Given the description of an element on the screen output the (x, y) to click on. 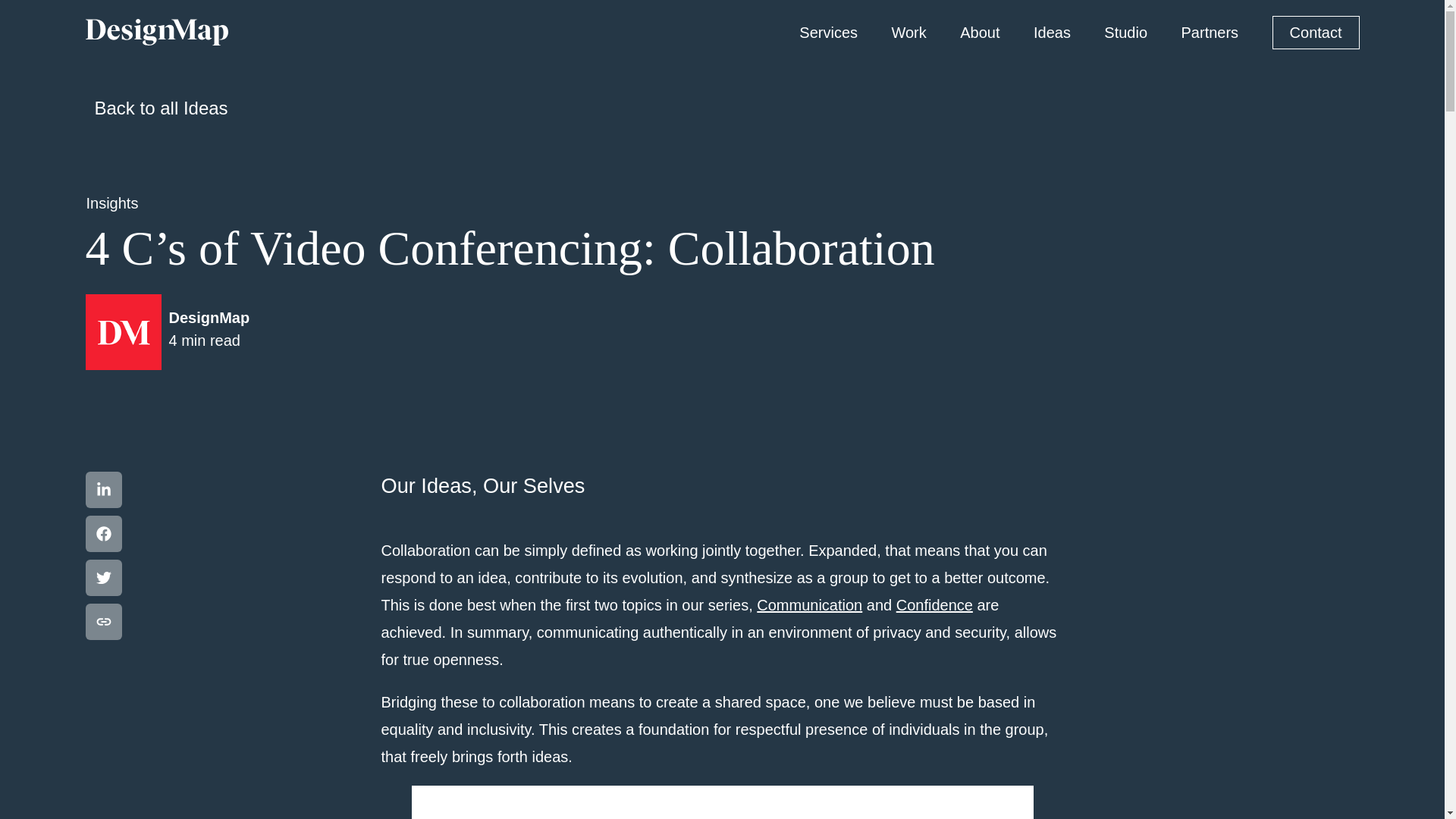
Ideas (1051, 31)
Studio (1125, 31)
Share on LinkedIn (102, 489)
Insights (166, 332)
Share on Facebook (111, 203)
Work (102, 533)
Partners (908, 31)
Communication (1209, 31)
Tweet on Twitter (809, 605)
About (102, 577)
Contact (979, 31)
Back to all Ideas (1315, 31)
Confidence (155, 108)
Copy link (934, 605)
